Given the description of an element on the screen output the (x, y) to click on. 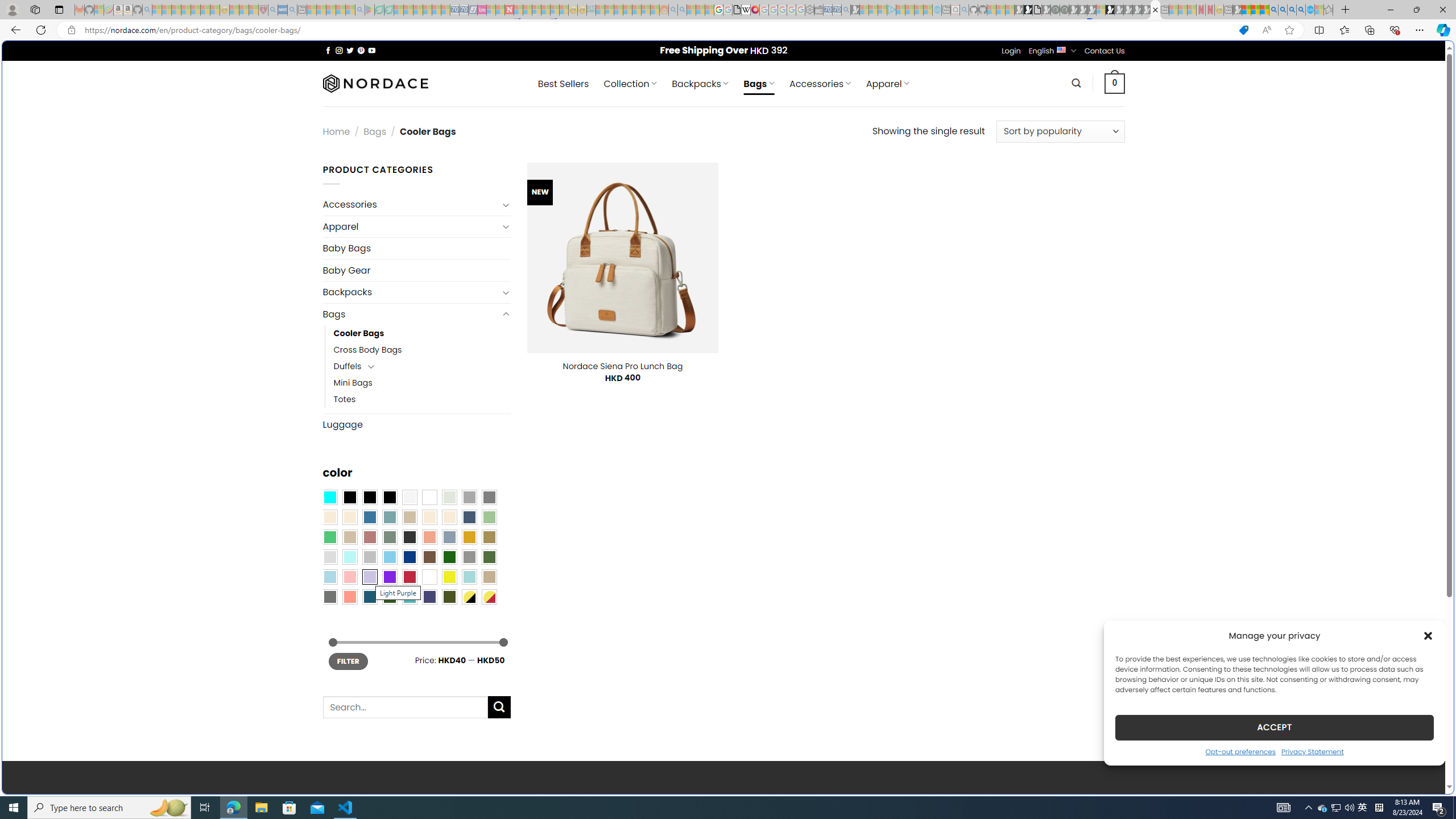
Cheap Car Rentals - Save70.com - Sleeping (836, 9)
Luggage (416, 423)
New Report Confirms 2023 Was Record Hot | Watch - Sleeping (195, 9)
Frequently visited (965, 151)
All Gray (488, 497)
Kelp (488, 536)
Yellow-Red (488, 596)
Aqua Blue (329, 497)
Silver (369, 557)
